Given the description of an element on the screen output the (x, y) to click on. 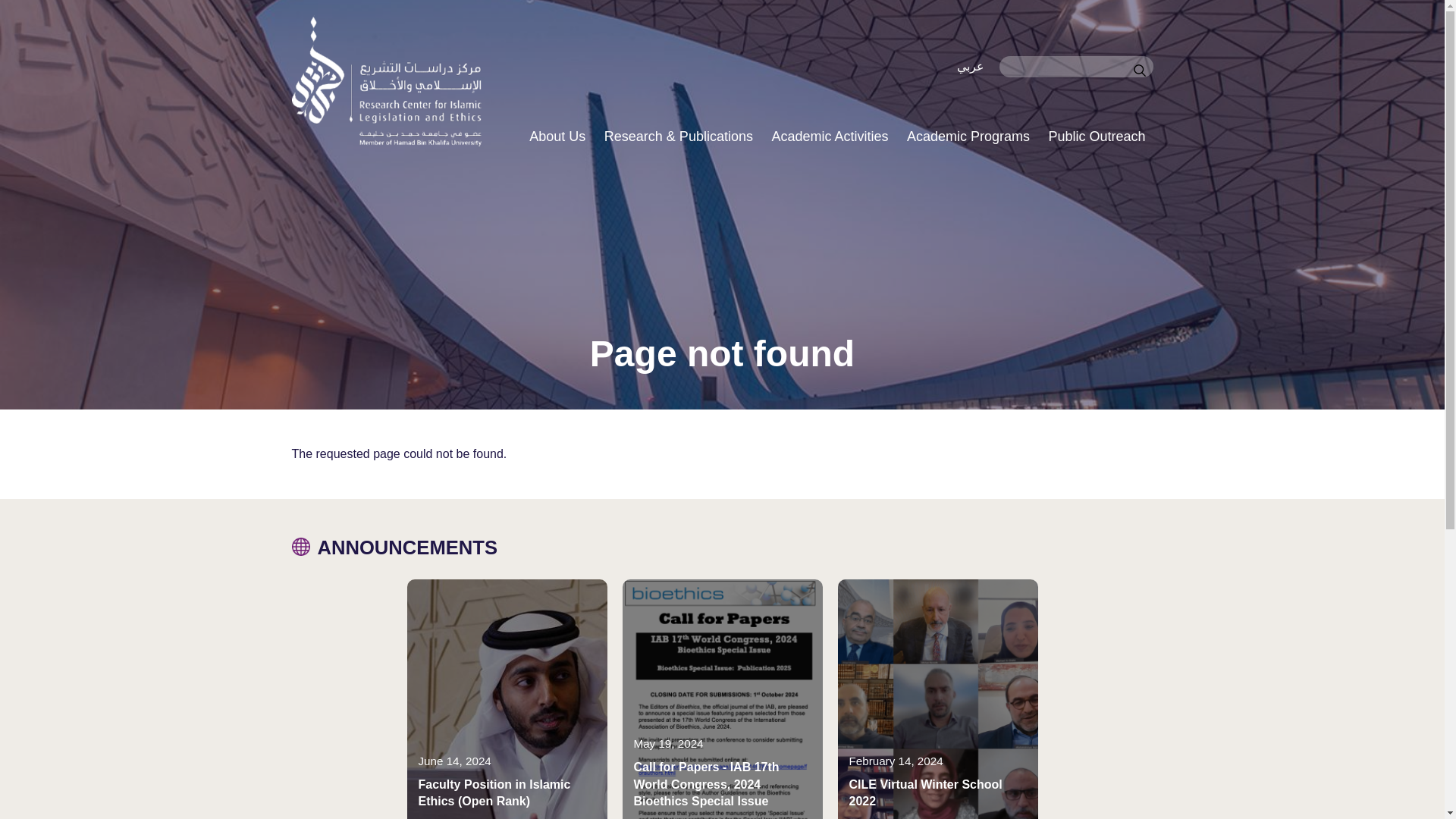
Search (1138, 70)
Public Outreach (1095, 136)
Academic Activities (829, 136)
Academic Programs (967, 136)
About Us (557, 136)
Enter the terms you wish to search for. (1075, 66)
Search (1138, 70)
